Given the description of an element on the screen output the (x, y) to click on. 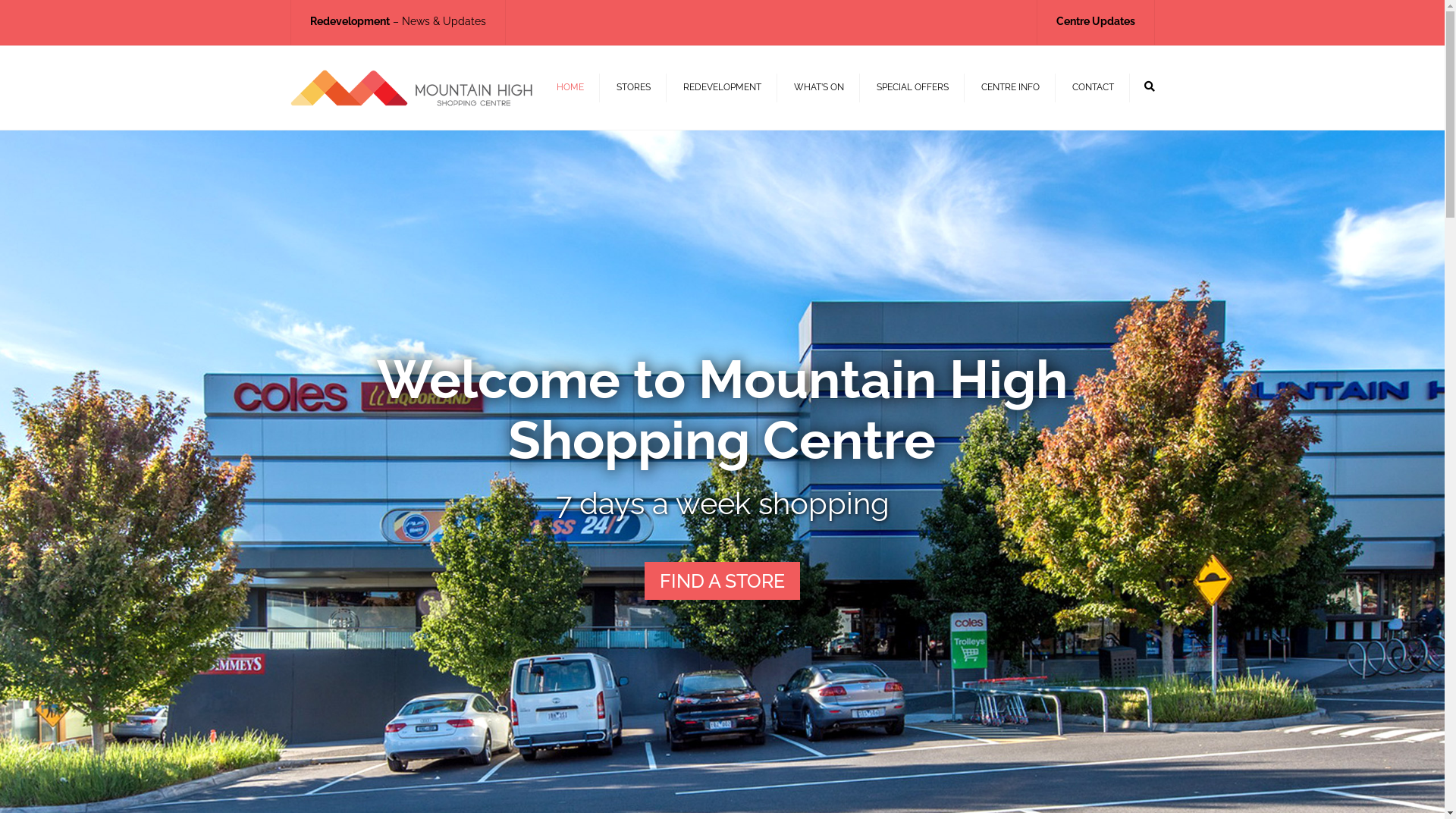
SPECIAL OFFERS Element type: text (912, 87)
FIND A STORE Element type: text (722, 580)
HOME Element type: text (570, 87)
CENTRE INFO Element type: text (1010, 87)
CONTACT Element type: text (1092, 87)
STORES Element type: text (632, 87)
Search Element type: text (1148, 86)
REDEVELOPMENT Element type: text (721, 87)
Centre Updates Element type: text (1094, 21)
